Given the description of an element on the screen output the (x, y) to click on. 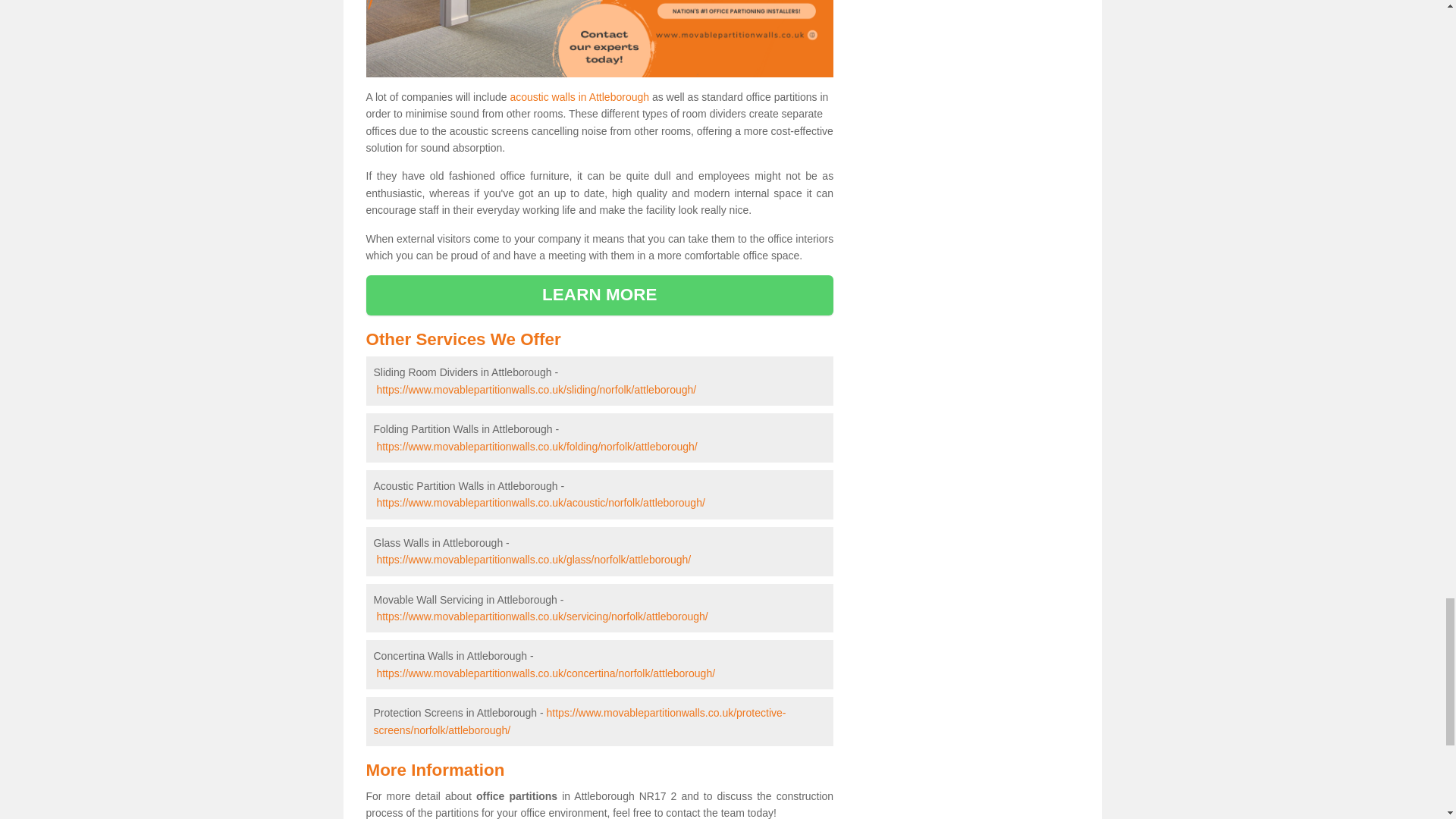
Office (598, 38)
